Given the description of an element on the screen output the (x, y) to click on. 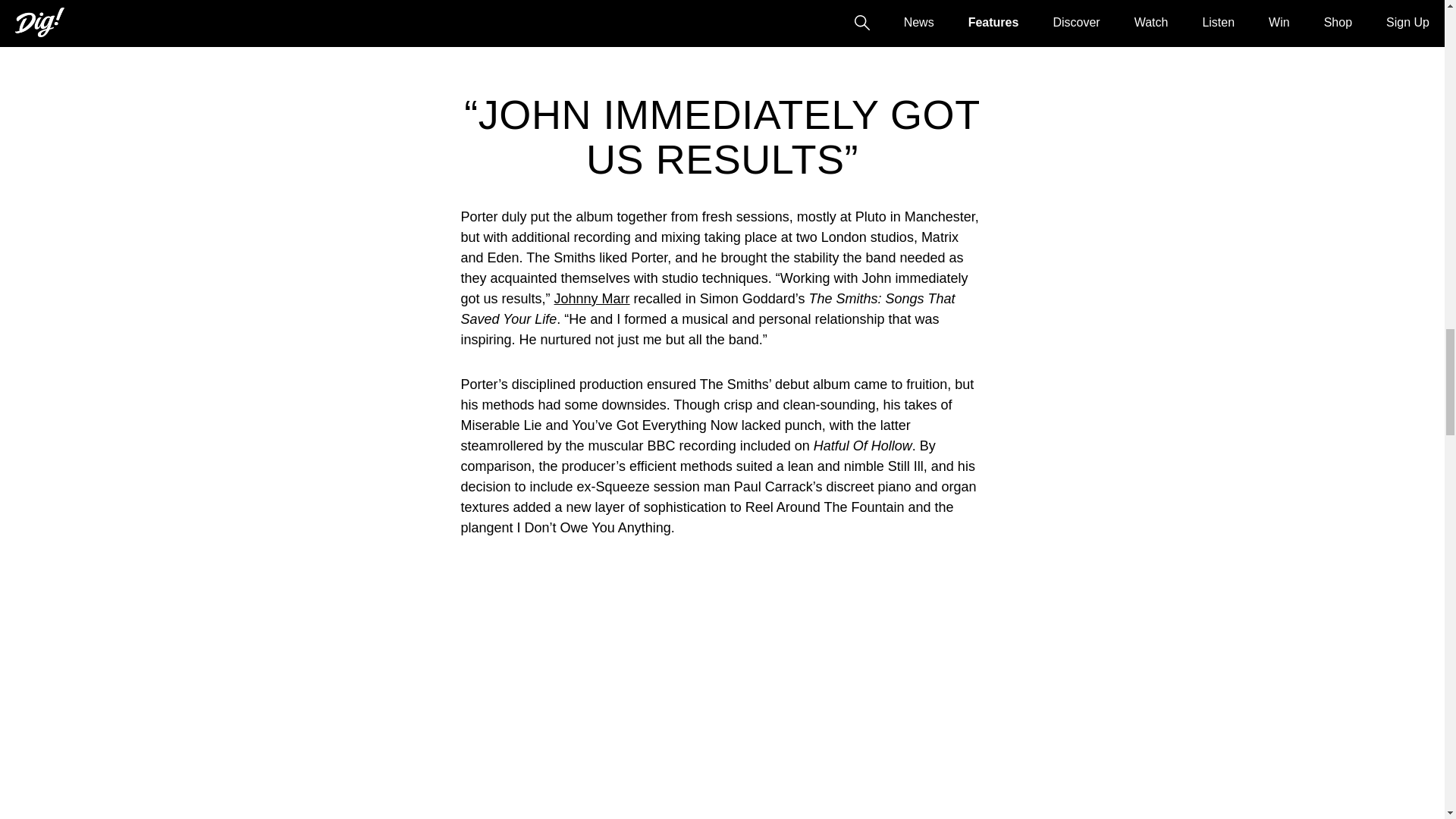
Johnny Marr (592, 298)
